Given the description of an element on the screen output the (x, y) to click on. 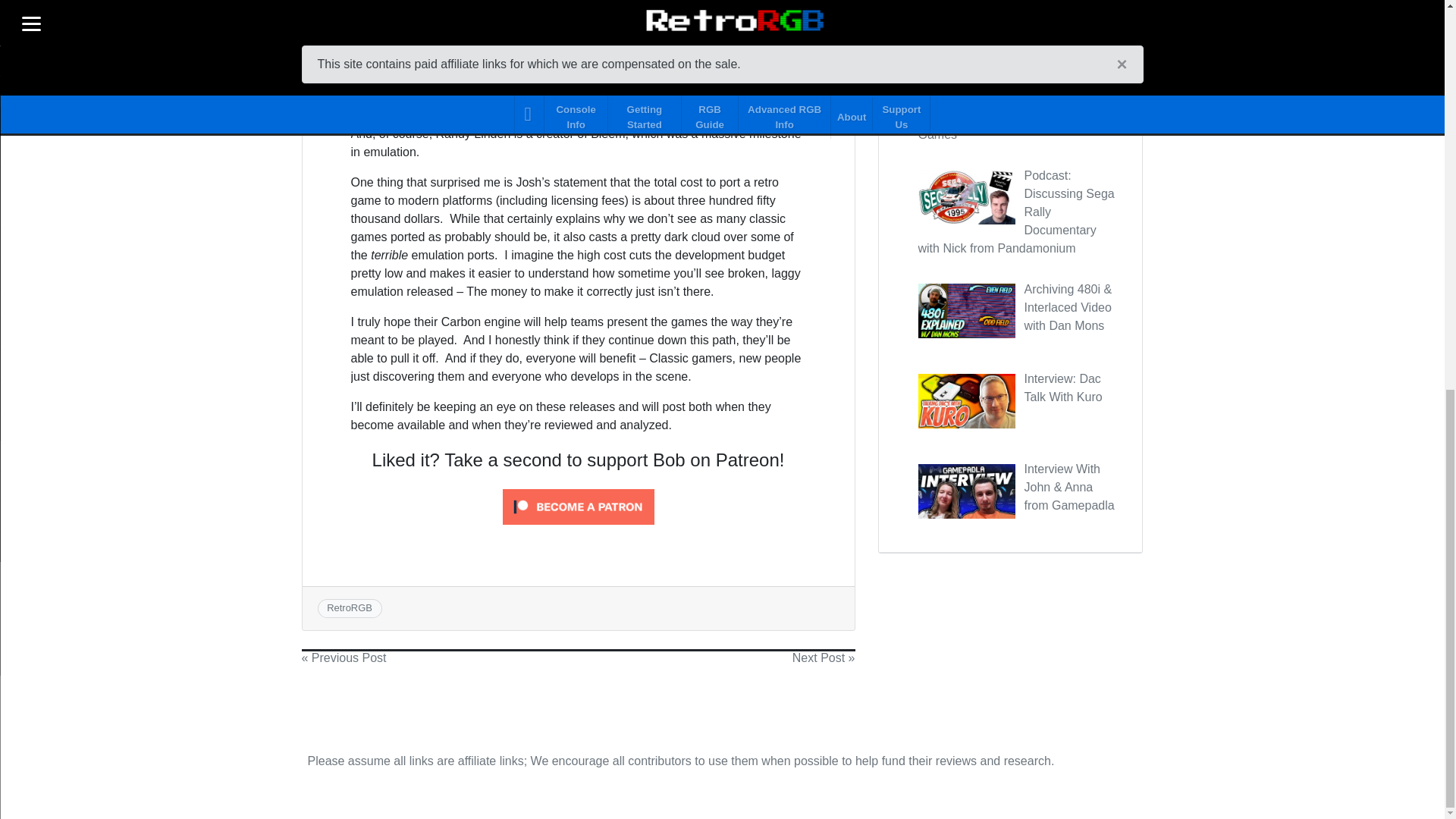
Dimitris aka Modern Vintage Gamer (446, 60)
RetroRGB (349, 607)
Interview: Dac Talk With Kuro (1062, 387)
